Given the description of an element on the screen output the (x, y) to click on. 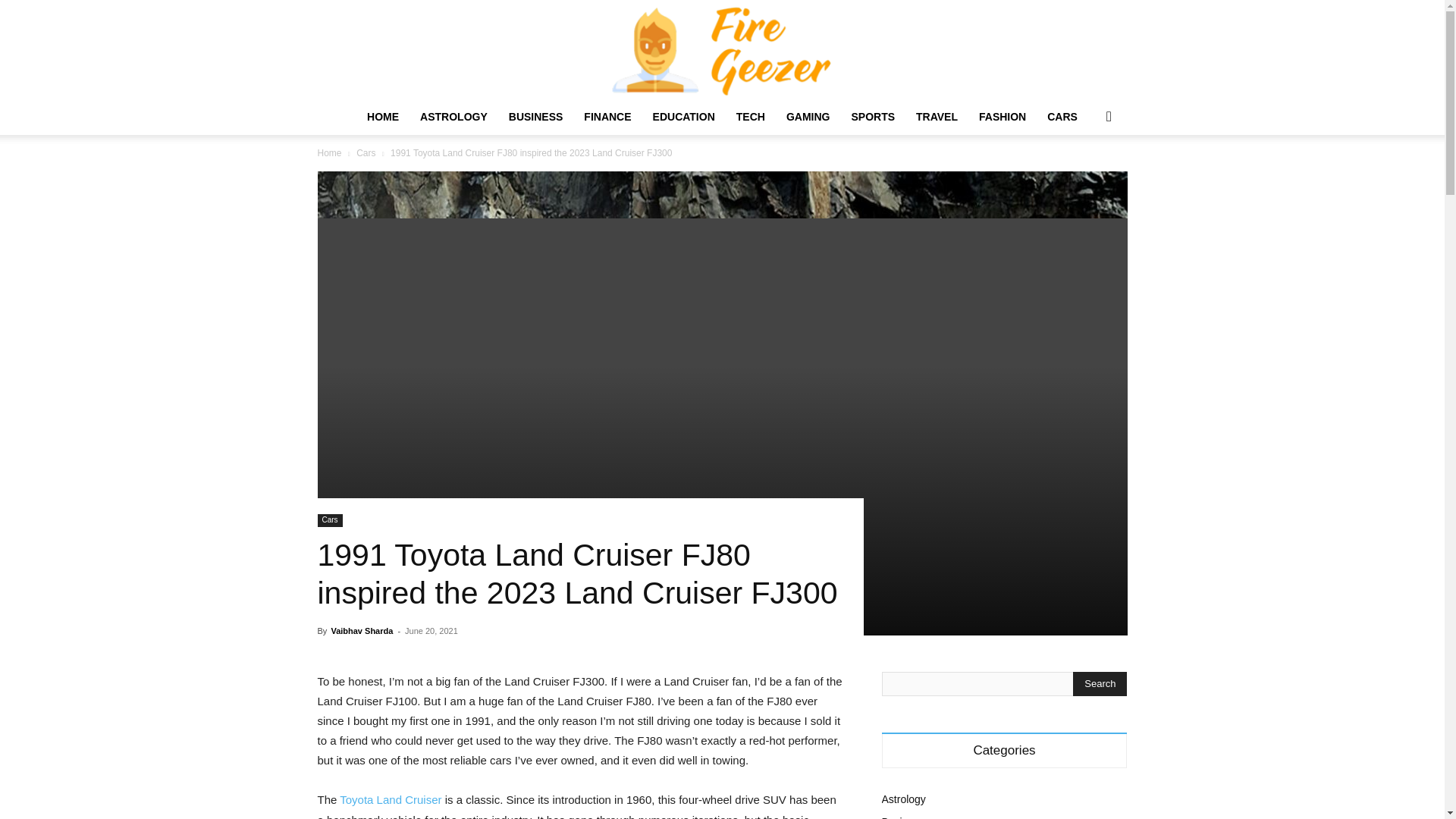
Cars (329, 520)
EDUCATION (683, 116)
Vaibhav Sharda (361, 630)
SPORTS (872, 116)
HOME (382, 116)
Toyota Land Cruiser (390, 799)
TECH (750, 116)
FASHION (1002, 116)
Cars (365, 153)
GAMING (808, 116)
